Given the description of an element on the screen output the (x, y) to click on. 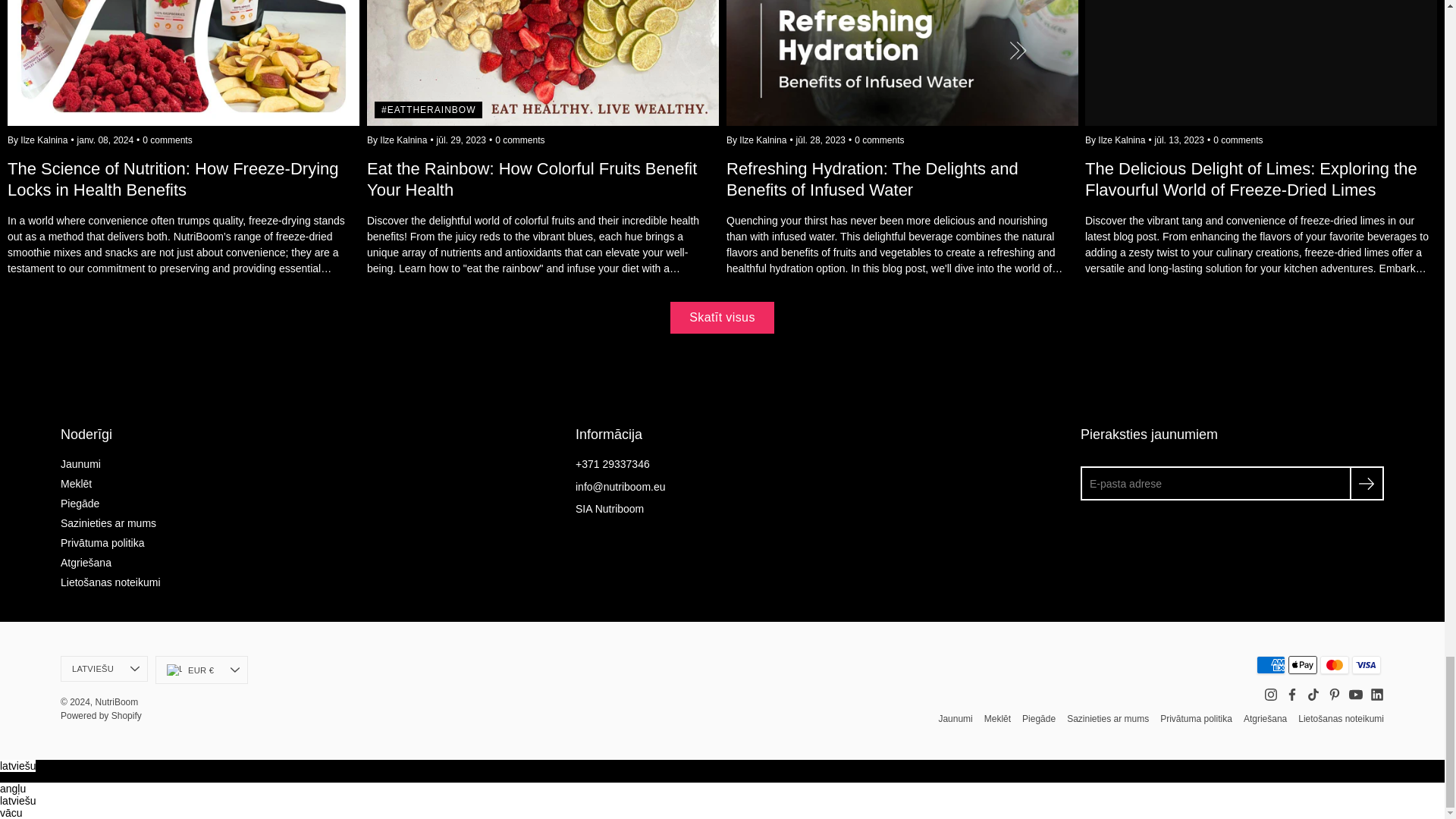
Eat the Rainbow: How Colorful Fruits Benefit Your Health (542, 204)
Apple Pay (1302, 665)
Visa (1366, 665)
American Express (1270, 665)
Eat the Rainbow: How Colorful Fruits Benefit Your Health (542, 63)
Mastercard (1334, 665)
